Given the description of an element on the screen output the (x, y) to click on. 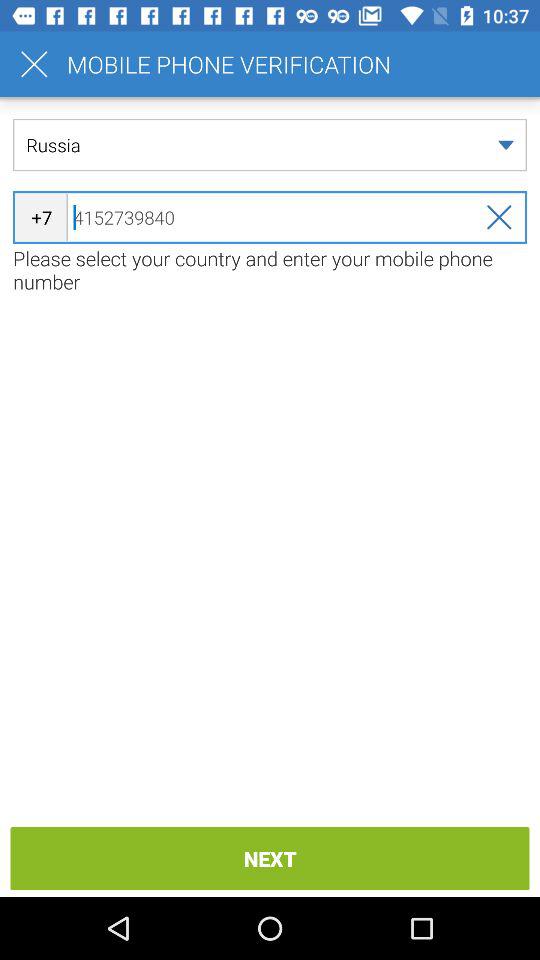
choose the item below please select your (269, 858)
